Given the description of an element on the screen output the (x, y) to click on. 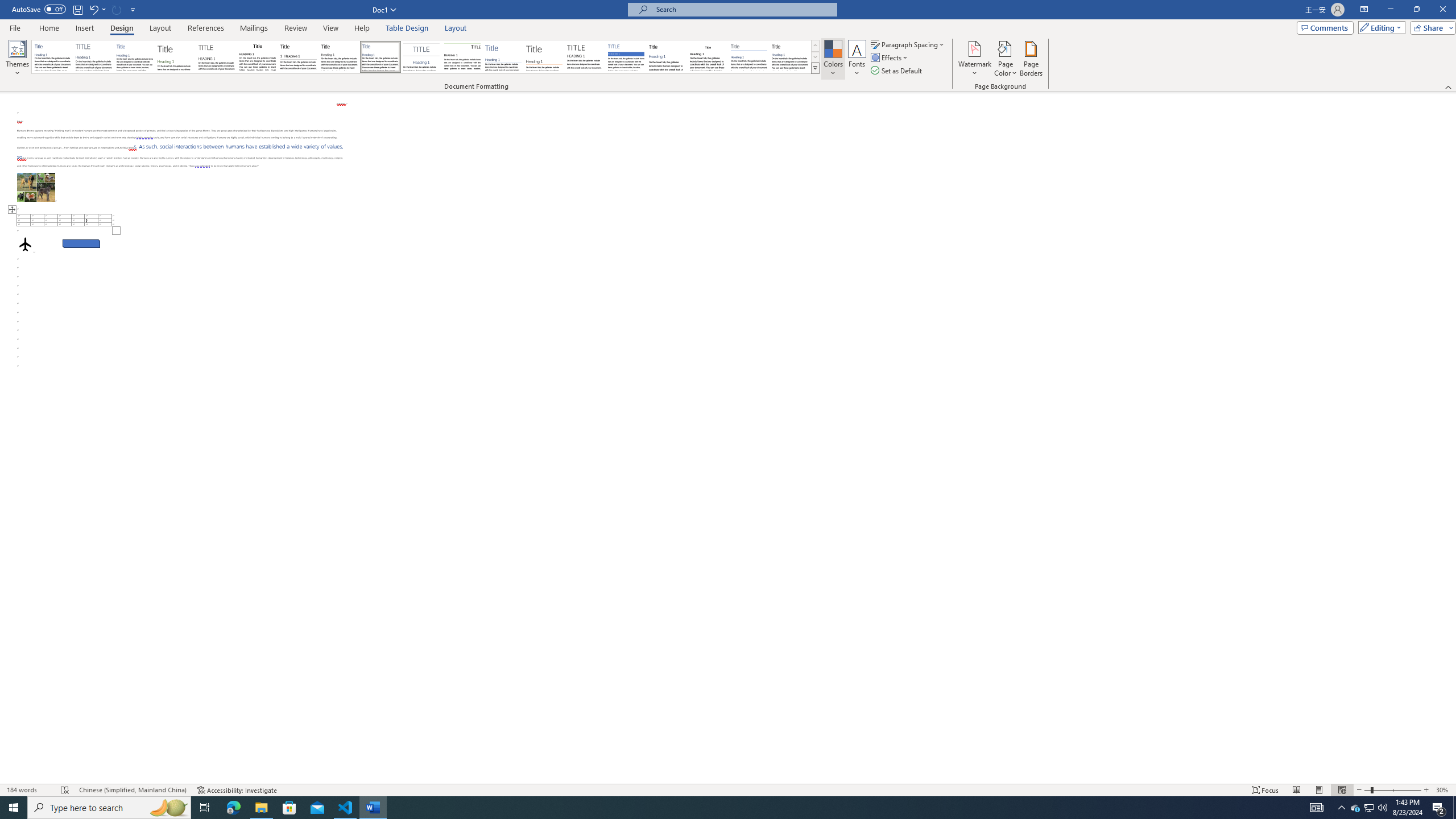
Effects (890, 56)
AutomationID: QuickStylesSets (425, 56)
Editing (1379, 27)
Accessibility Checker Accessibility: Investigate (237, 790)
Word 2010 (749, 56)
Set as Default (897, 69)
Basic (Elegant) (93, 56)
Lines (Stylish) (544, 56)
Word 2013 (790, 56)
